Given the description of an element on the screen output the (x, y) to click on. 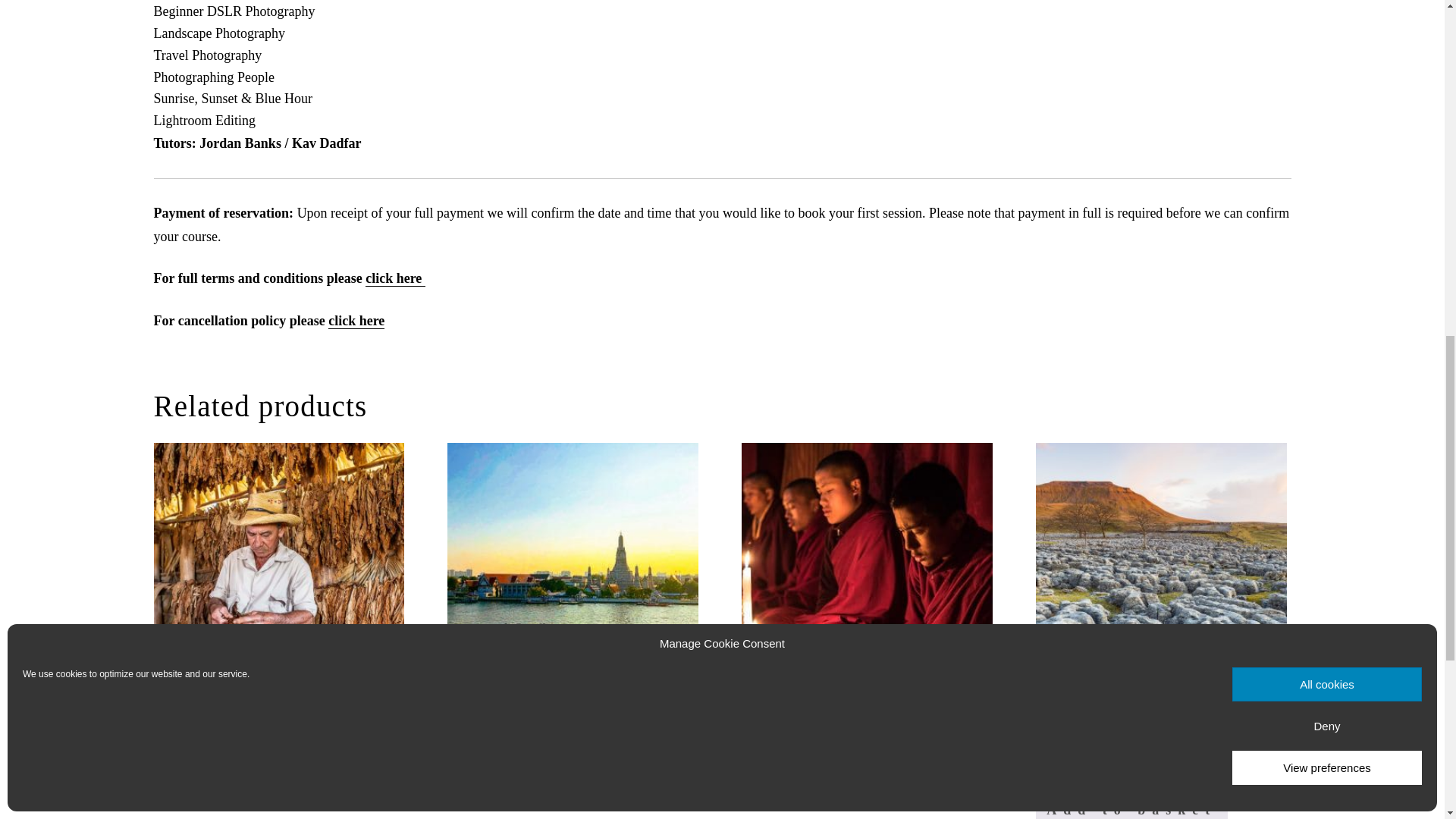
click here (356, 320)
Add to basket (837, 791)
Select options (251, 791)
Add to basket (542, 791)
click here  (395, 278)
Add to basket (1131, 806)
